Given the description of an element on the screen output the (x, y) to click on. 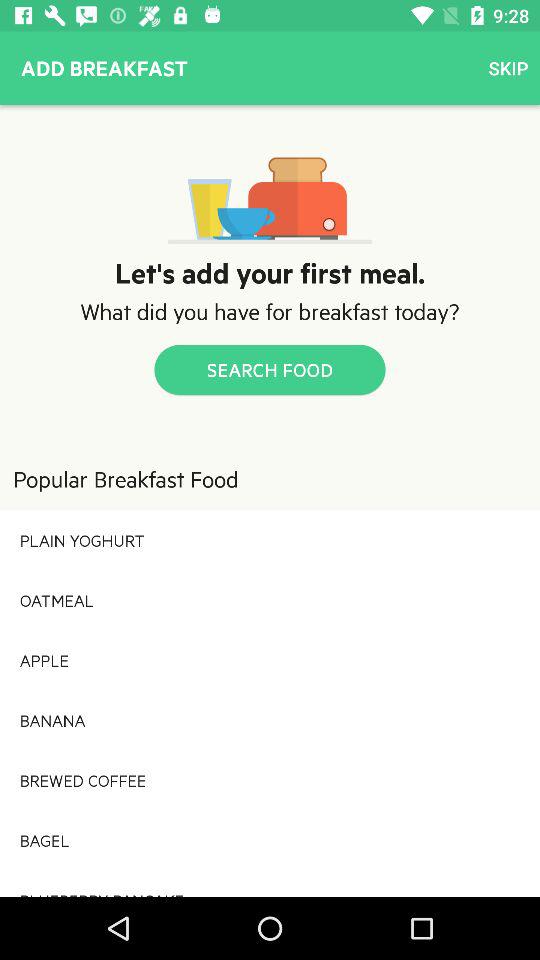
scroll until the blueberry pancake item (270, 883)
